Given the description of an element on the screen output the (x, y) to click on. 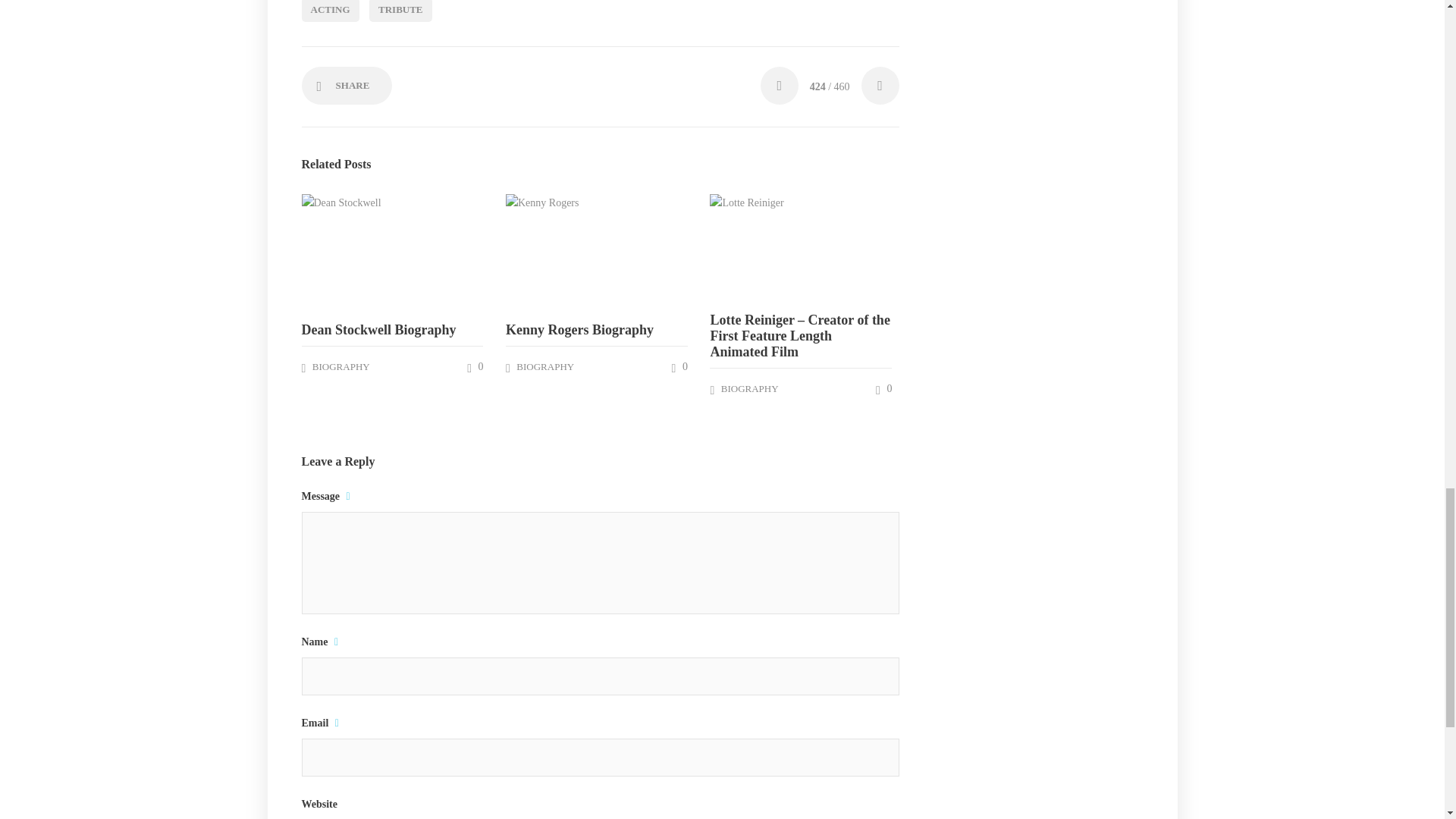
Kenny Rogers Biography (596, 330)
BIOGRAPHY (544, 366)
ACTING (330, 11)
Dean Stockwell Biography (392, 330)
TRIBUTE (400, 11)
BIOGRAPHY (341, 366)
